Given the description of an element on the screen output the (x, y) to click on. 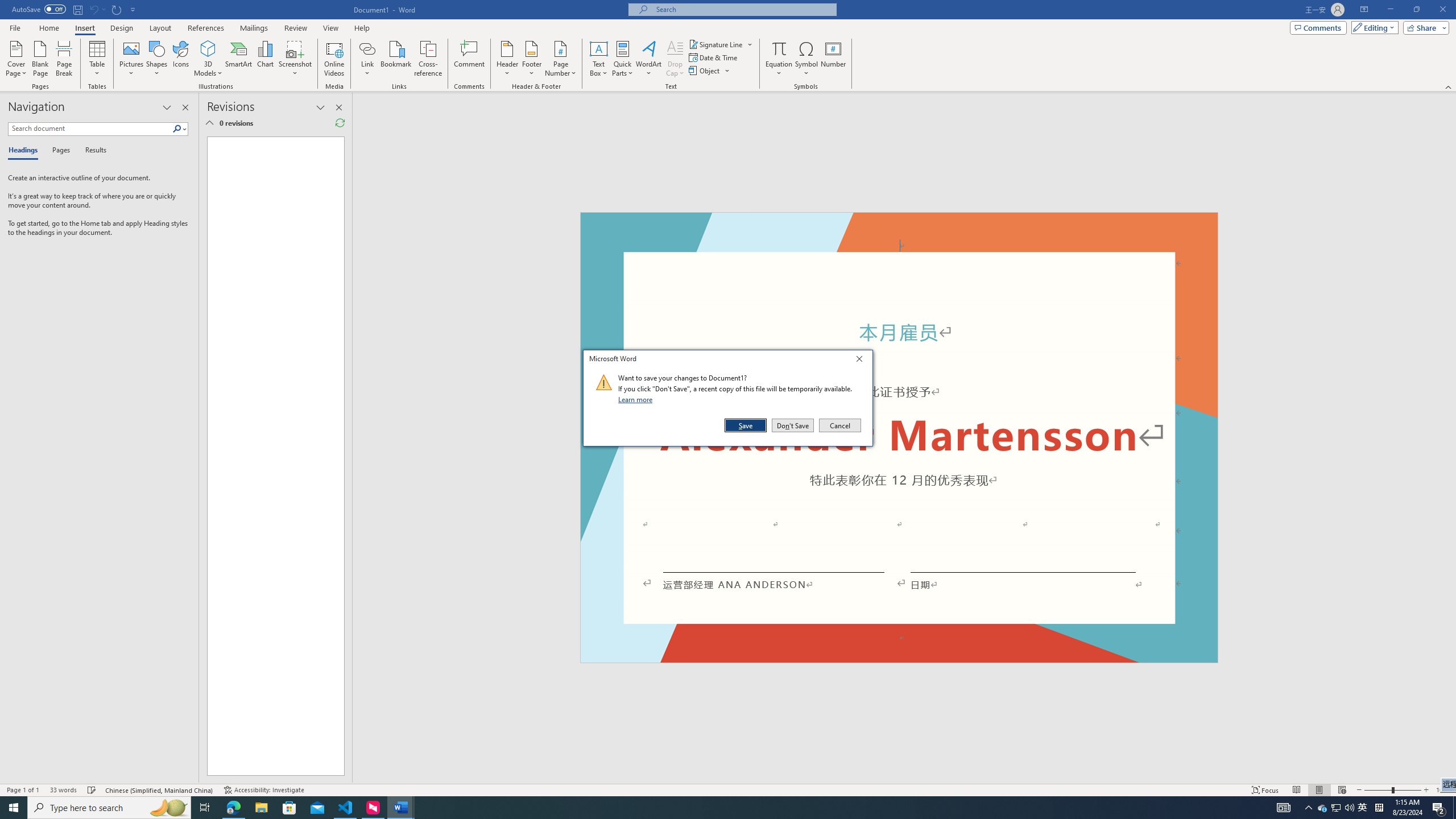
Page Number Page 1 of 1 (22, 790)
Class: NetUIScrollBar (1450, 437)
Table (97, 58)
WordArt (648, 58)
Q2790: 100% (1349, 807)
Web Layout (1342, 790)
Insert (83, 28)
Page 1 content (271, 455)
Read Mode (1296, 790)
Header -Section 1- (898, 225)
Design (1335, 807)
Signature Line (122, 28)
Page Number (716, 44)
Microsoft Store (560, 58)
